Given the description of an element on the screen output the (x, y) to click on. 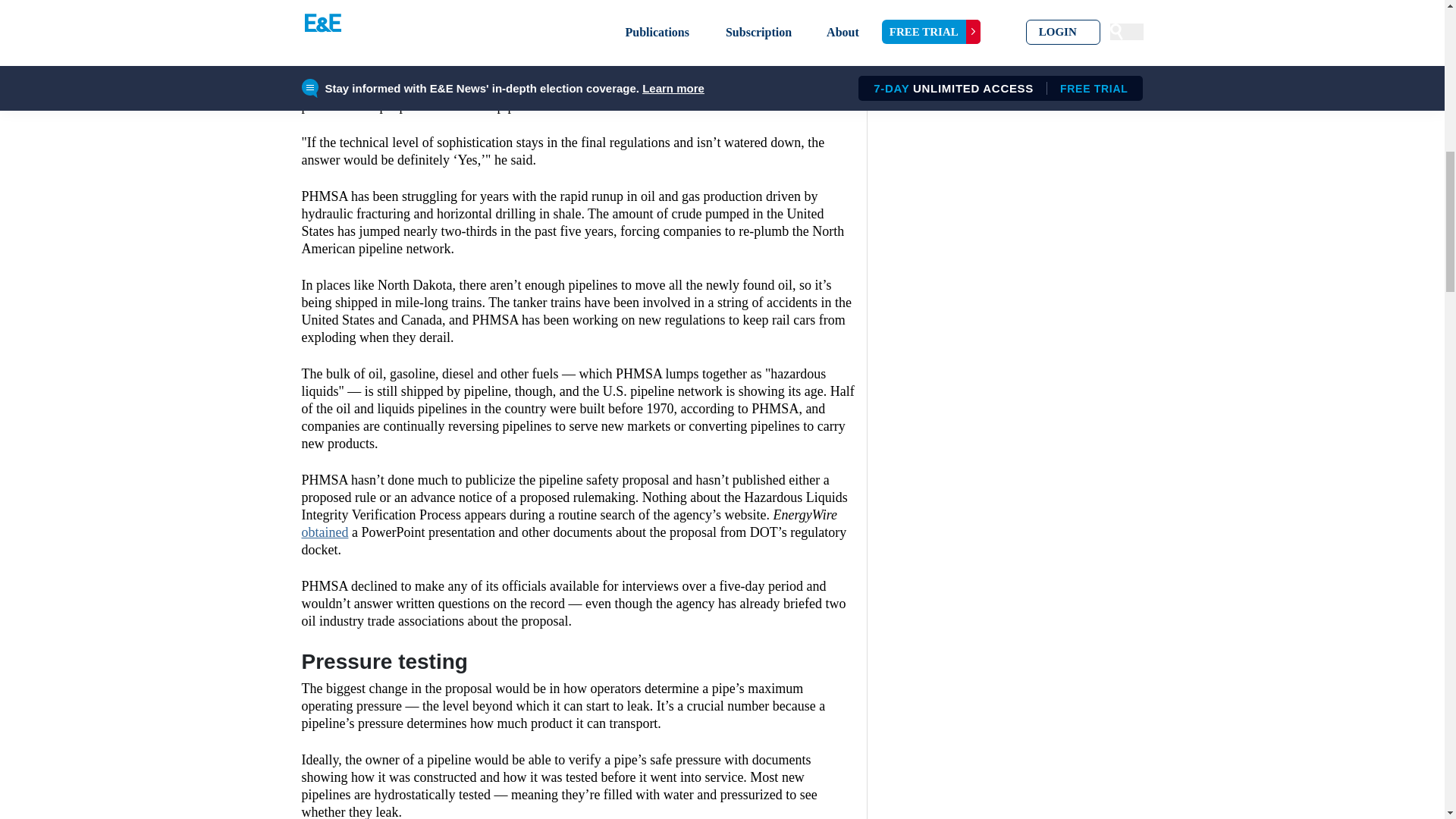
obtained (325, 531)
